Given the description of an element on the screen output the (x, y) to click on. 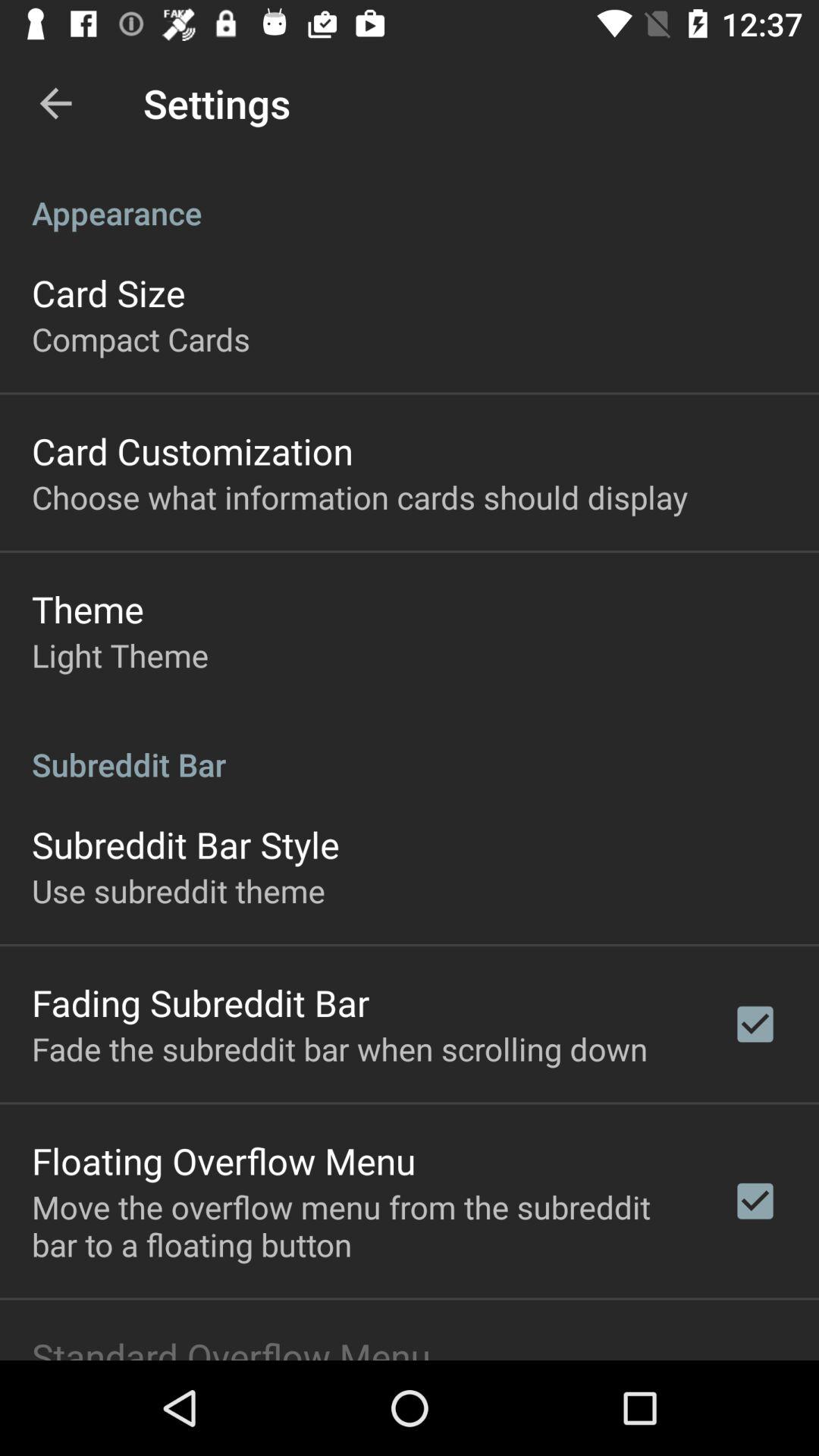
jump to the card size (108, 292)
